Given the description of an element on the screen output the (x, y) to click on. 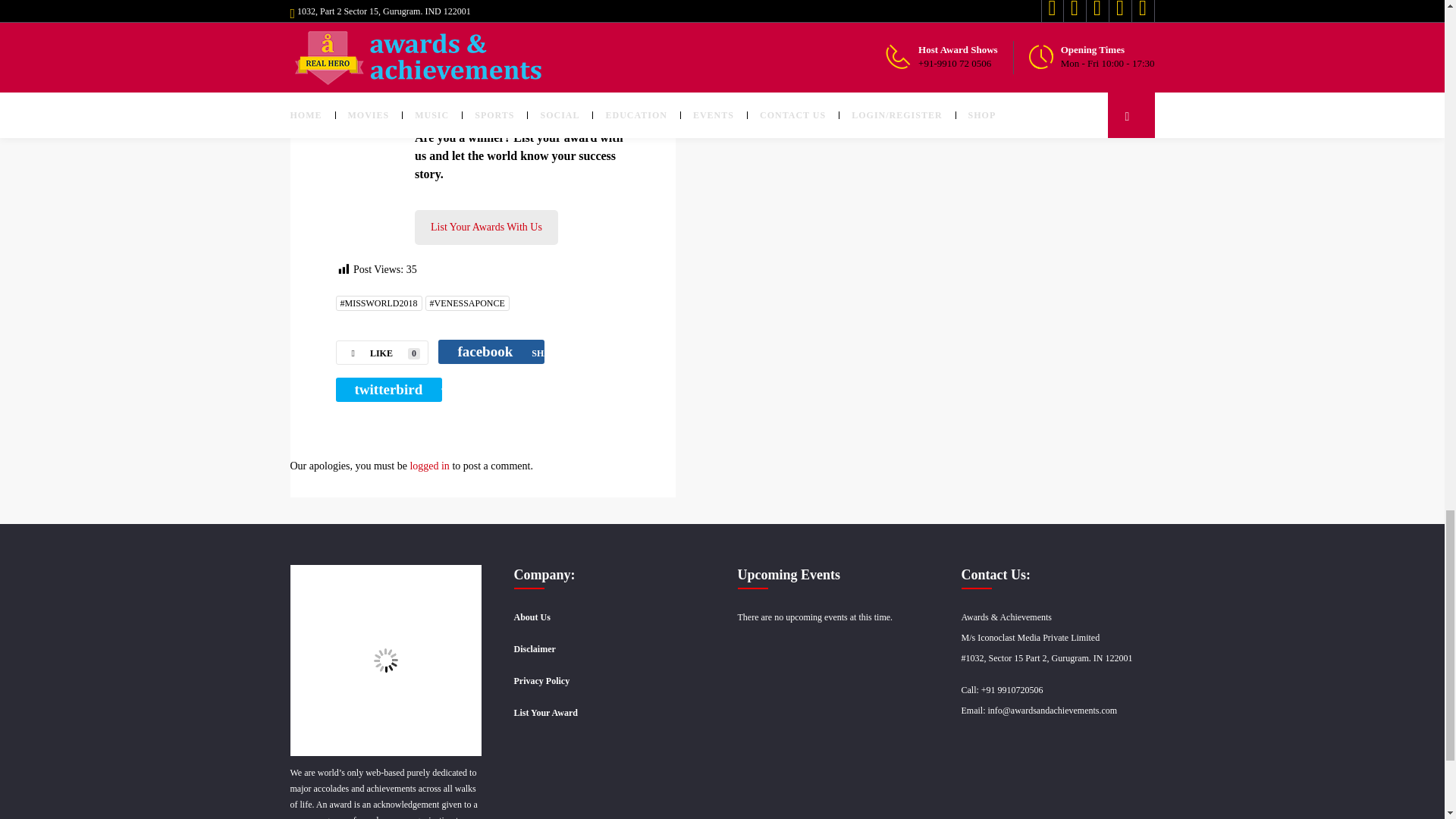
Disclaimer (534, 648)
logged in (429, 465)
List Your Awards With Us (485, 226)
twitterbirdTWEET (387, 389)
LIKE0 (381, 352)
facebookSHARE (491, 351)
Register Your Awards (485, 226)
About Us (531, 616)
Privacy Policy (541, 680)
